Given the description of an element on the screen output the (x, y) to click on. 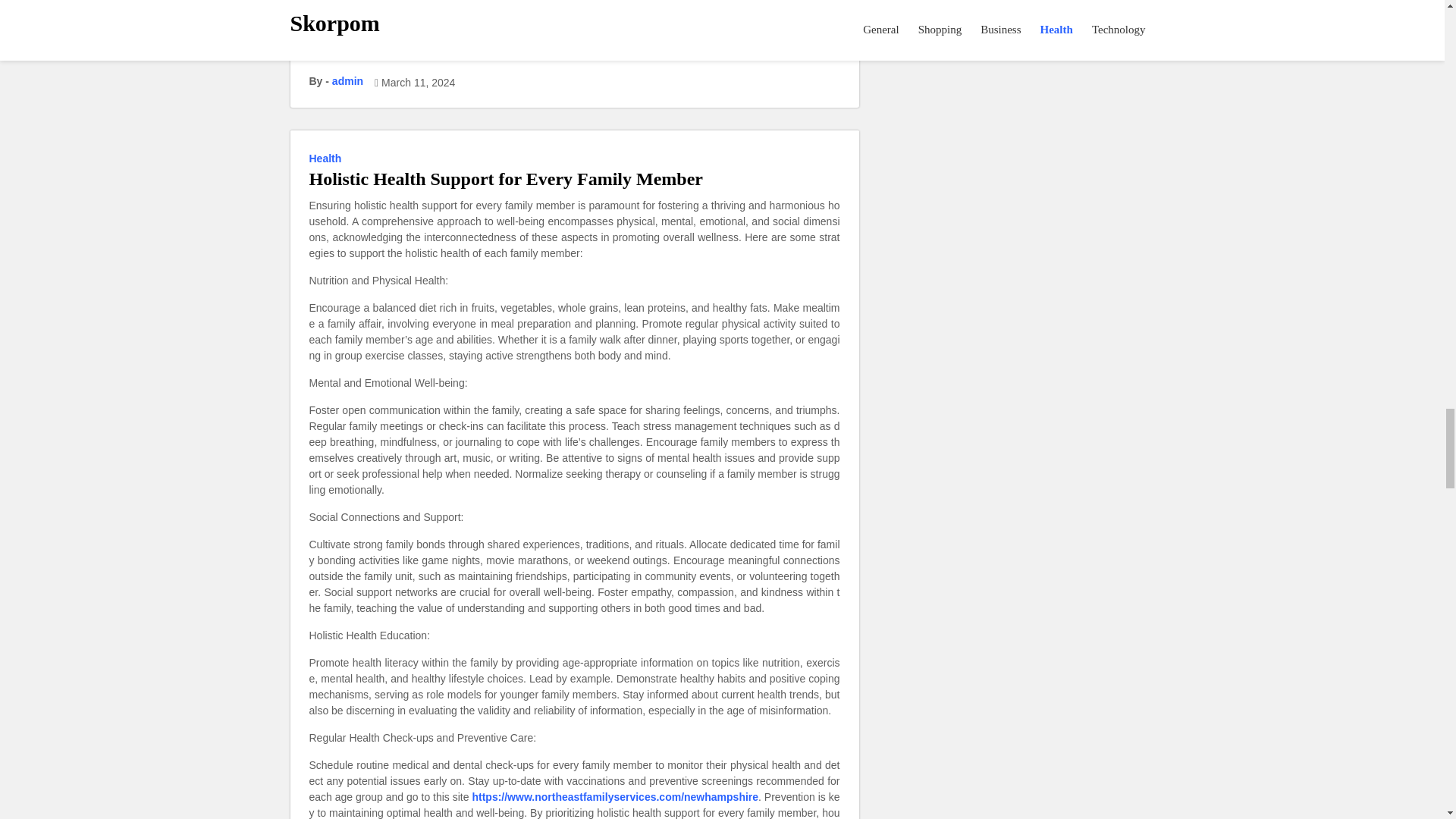
Holistic Health Support for Every Family Member (505, 178)
March 11, 2024 (417, 82)
admin (346, 81)
Health (327, 158)
